Given the description of an element on the screen output the (x, y) to click on. 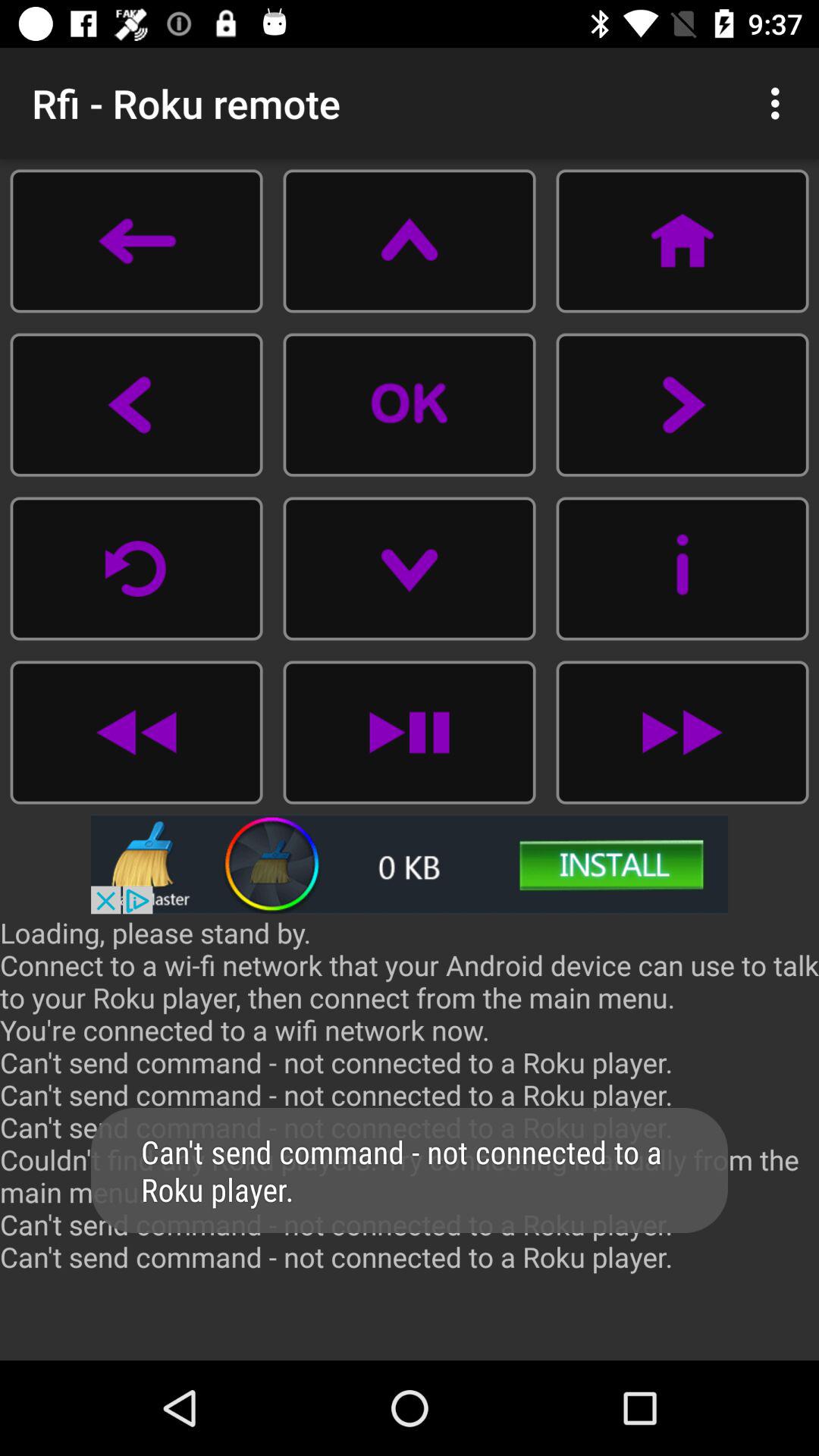
ok (409, 404)
